Given the description of an element on the screen output the (x, y) to click on. 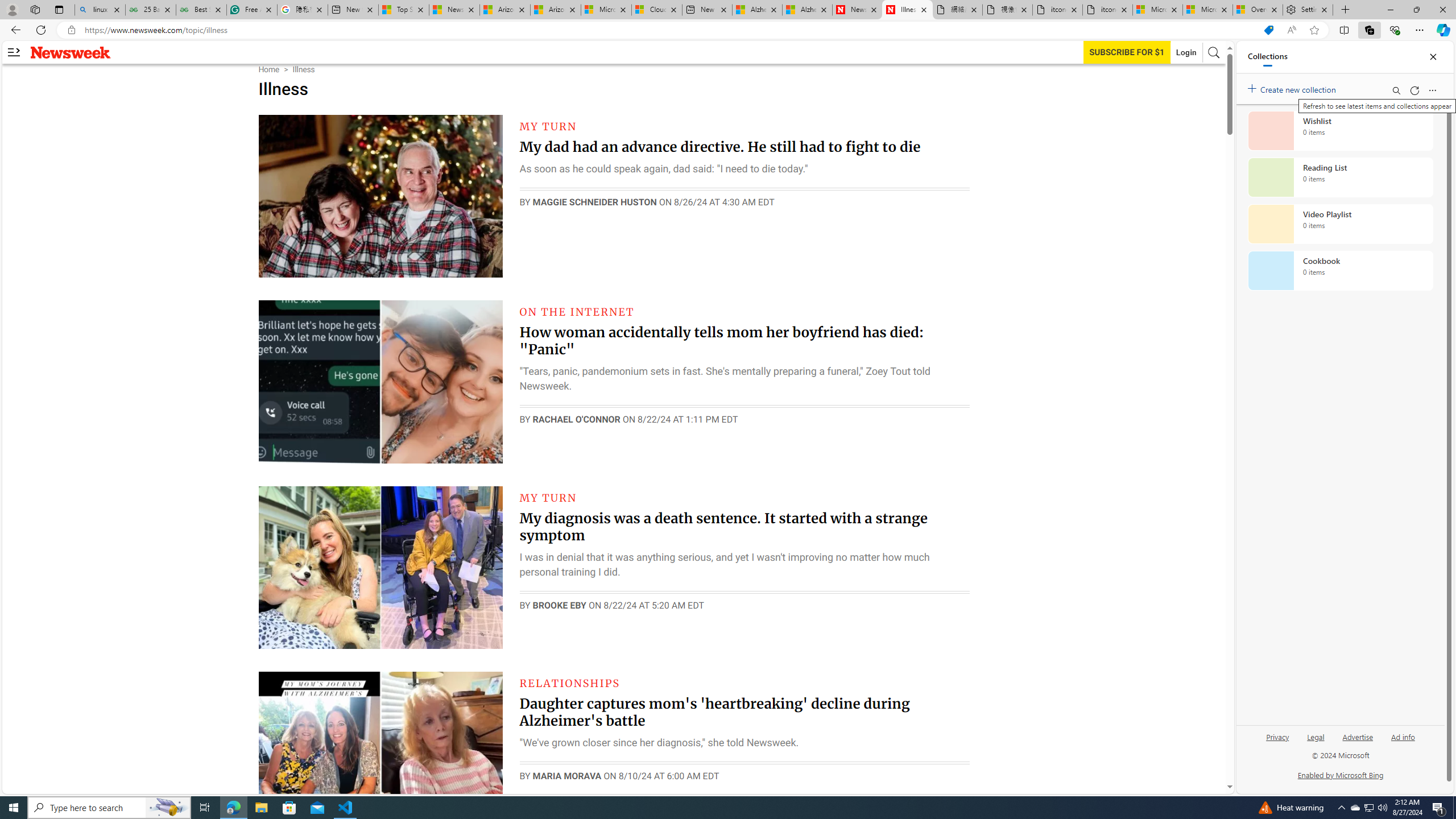
25 Basic Linux Commands For Beginners - GeeksforGeeks (150, 9)
Privacy (1278, 736)
MY TURN (547, 497)
Advertise (1358, 741)
Shopping in Microsoft Edge (1268, 29)
Newsweek logo (70, 51)
Wishlist collection, 0 items (1339, 130)
More options menu (1432, 90)
